Given the description of an element on the screen output the (x, y) to click on. 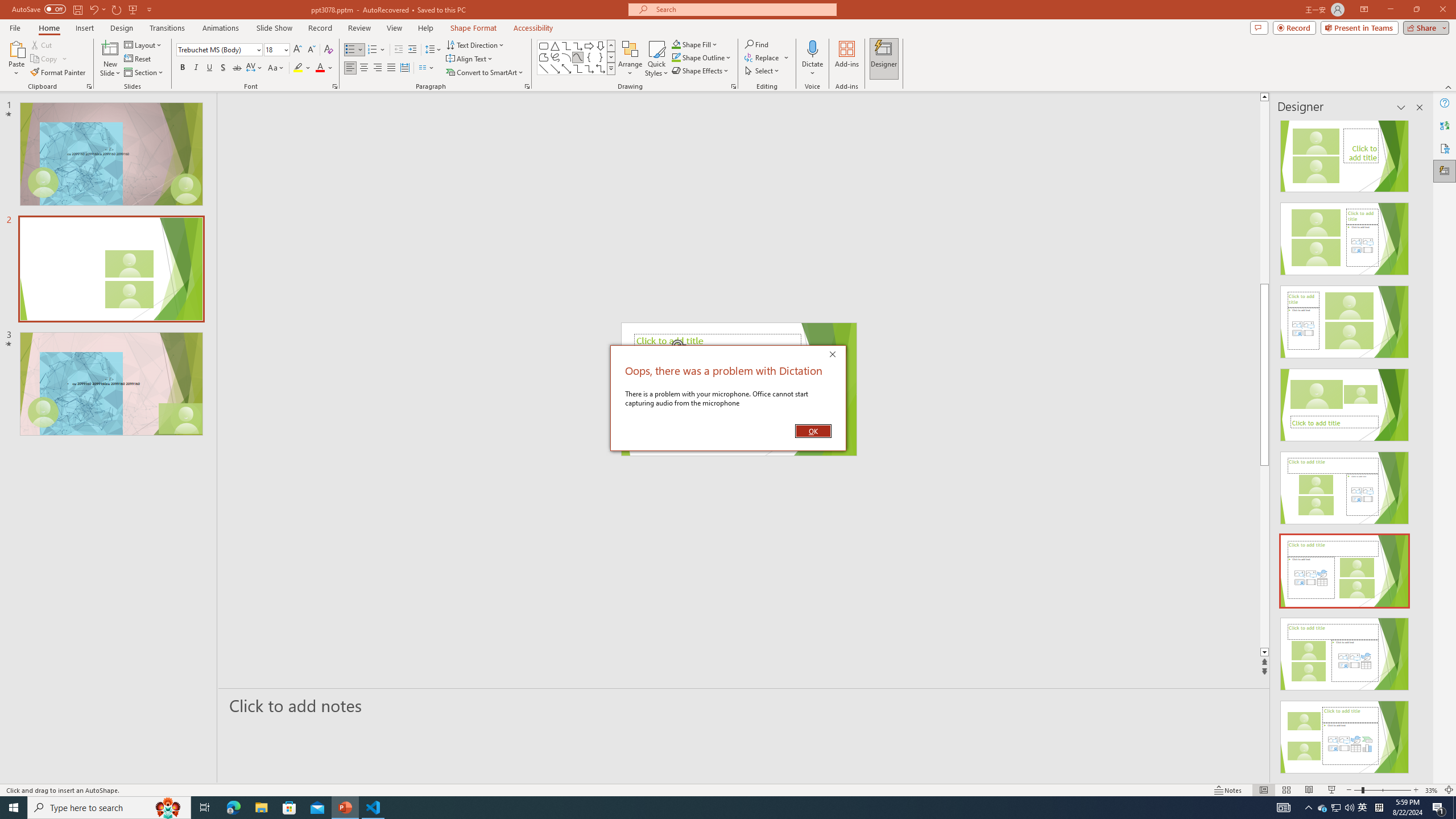
Shape Fill Dark Green, Accent 2 (675, 44)
Action Center, 1 new notification (1439, 807)
